Given the description of an element on the screen output the (x, y) to click on. 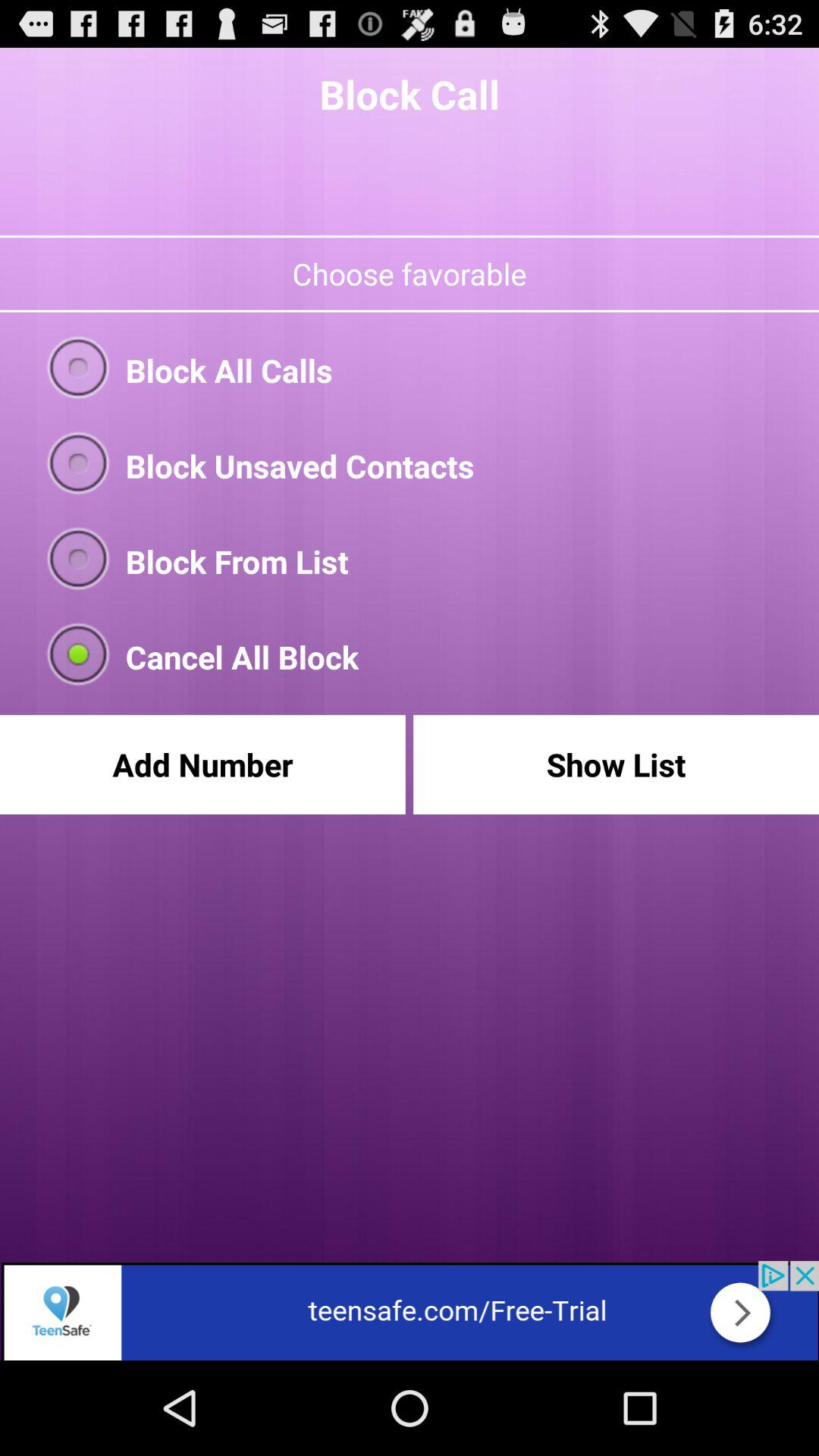
go to teensafe app trial (409, 1310)
